Given the description of an element on the screen output the (x, y) to click on. 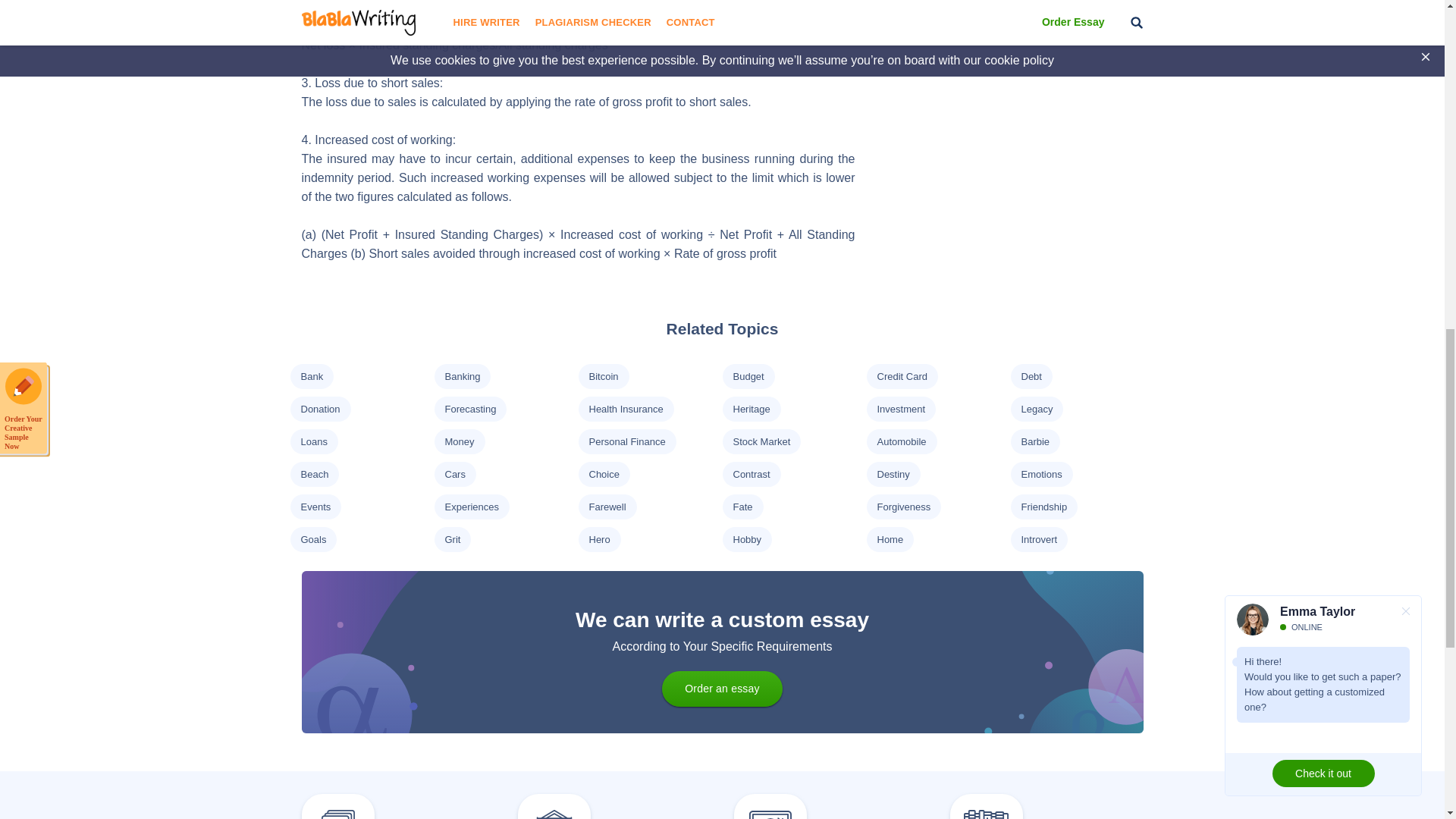
Investment (900, 408)
Bitcoin (602, 376)
Bank (311, 376)
Banking (462, 376)
Debt (1030, 376)
Budget (747, 376)
Heritage (751, 408)
Loans (312, 441)
Credit Card (901, 376)
Legacy (1036, 408)
Donation (319, 408)
Health Insurance (625, 408)
Forecasting (470, 408)
